Given the description of an element on the screen output the (x, y) to click on. 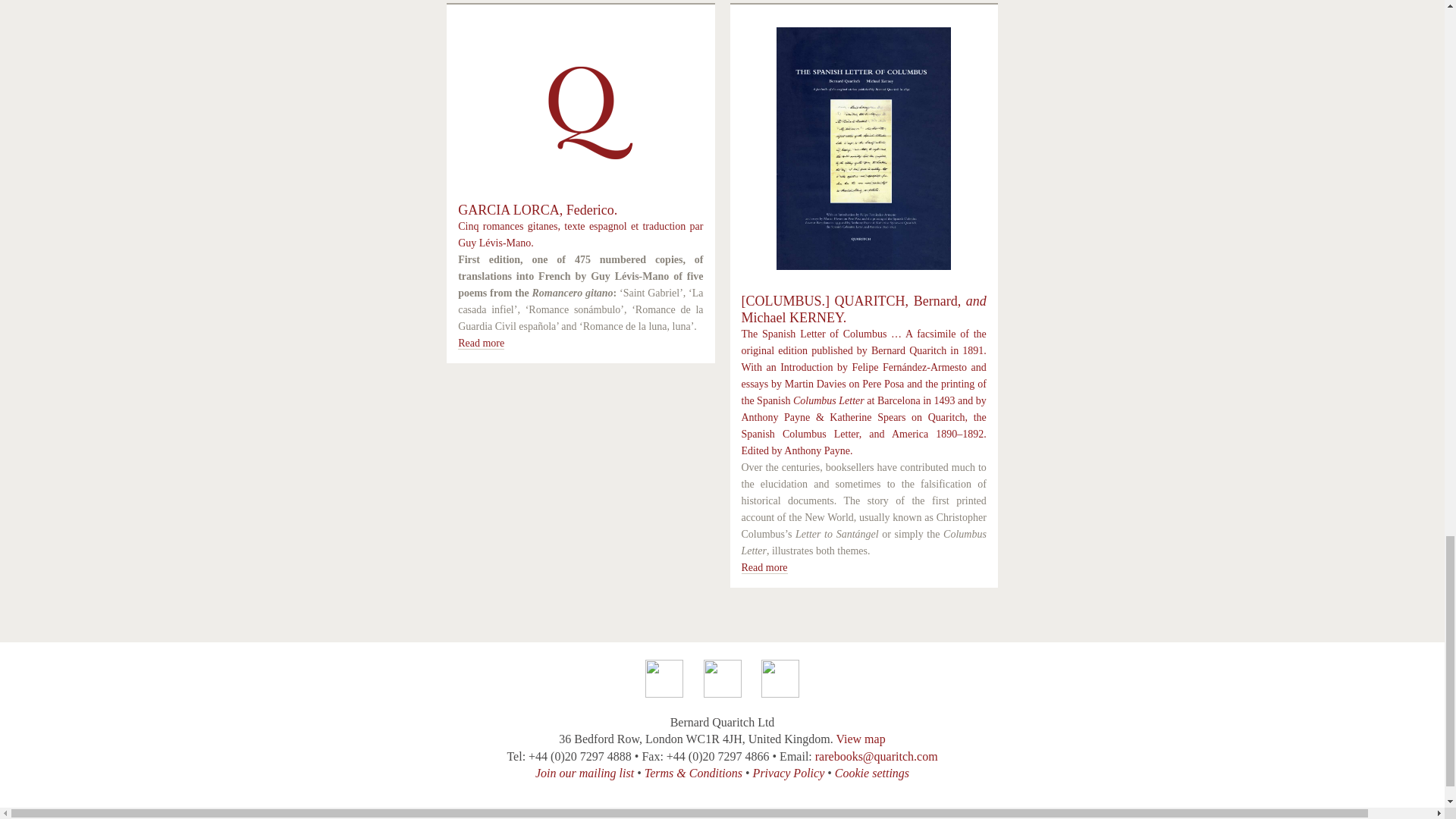
View map (860, 738)
Read more (480, 343)
Read more (764, 567)
